Given the description of an element on the screen output the (x, y) to click on. 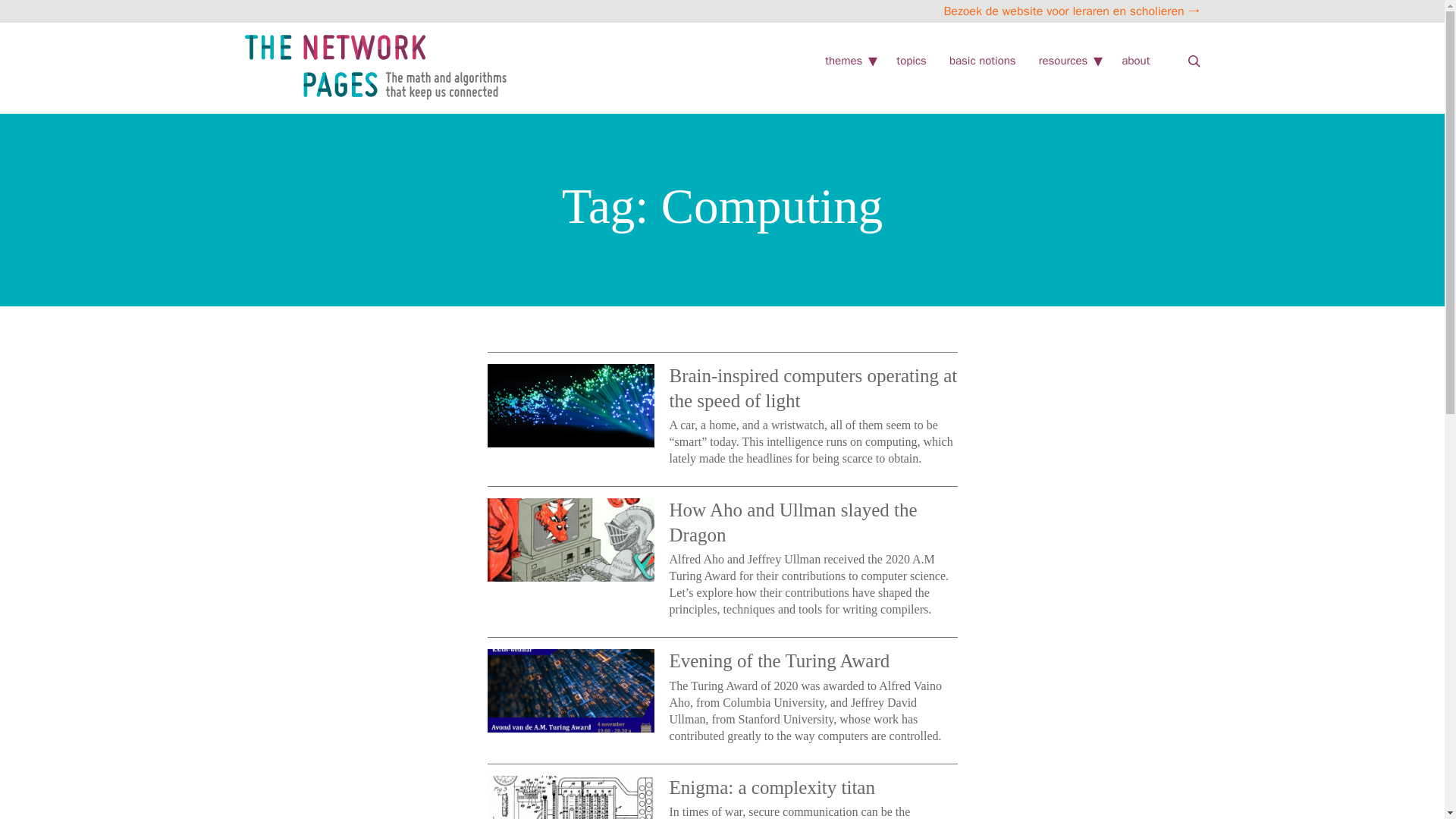
about (1135, 60)
basic notions (982, 60)
topics (911, 60)
resources (1063, 60)
Enigma: a complexity titan (771, 786)
How Aho and Ullman slayed the Dragon (792, 522)
Brain-inspired computers operating at the speed of light (812, 388)
Evening of the Turing Award (778, 660)
Search (1193, 61)
themes (843, 60)
